Given the description of an element on the screen output the (x, y) to click on. 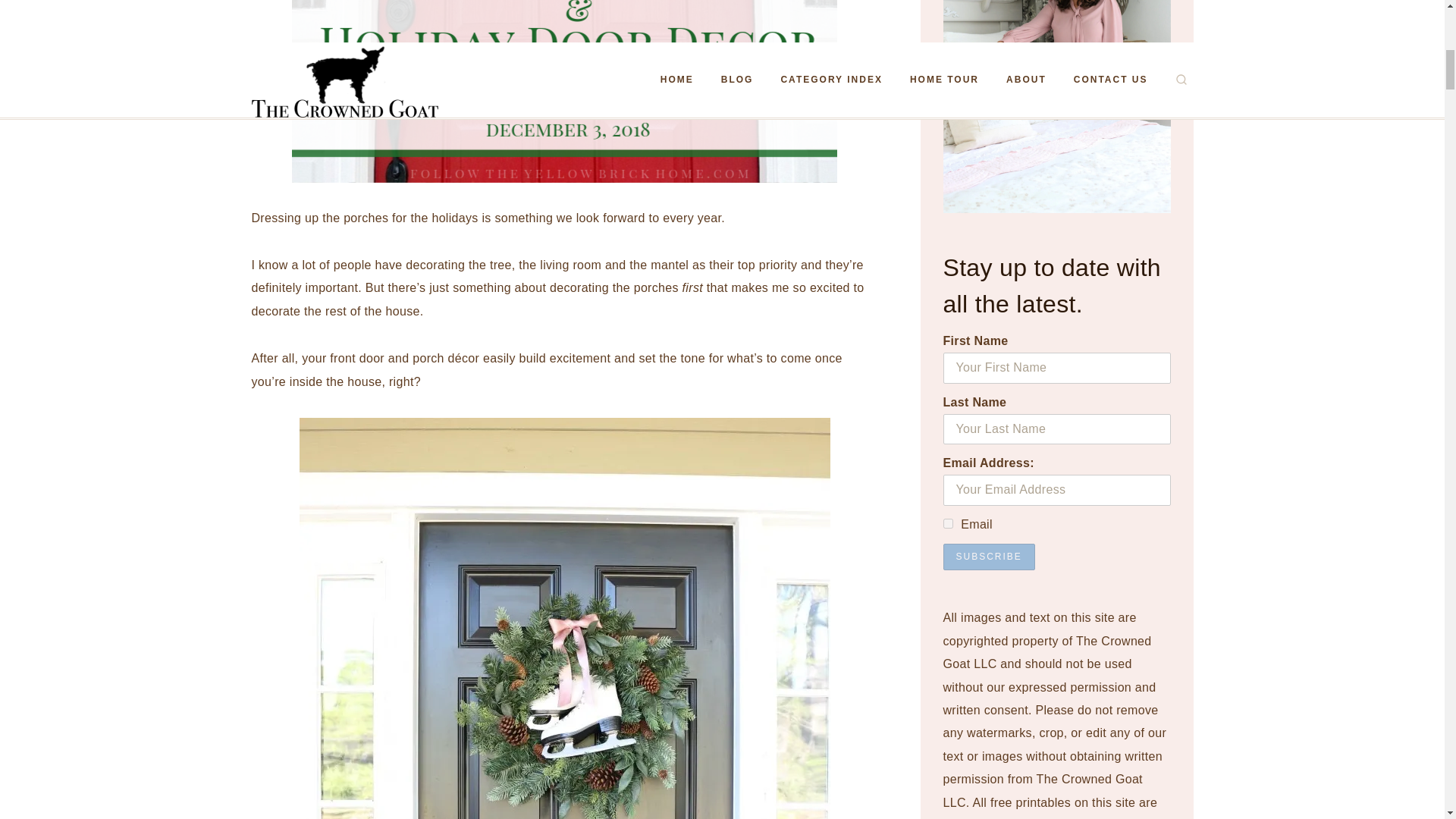
c136a7eab0 (948, 523)
Subscribe (989, 556)
